Given the description of an element on the screen output the (x, y) to click on. 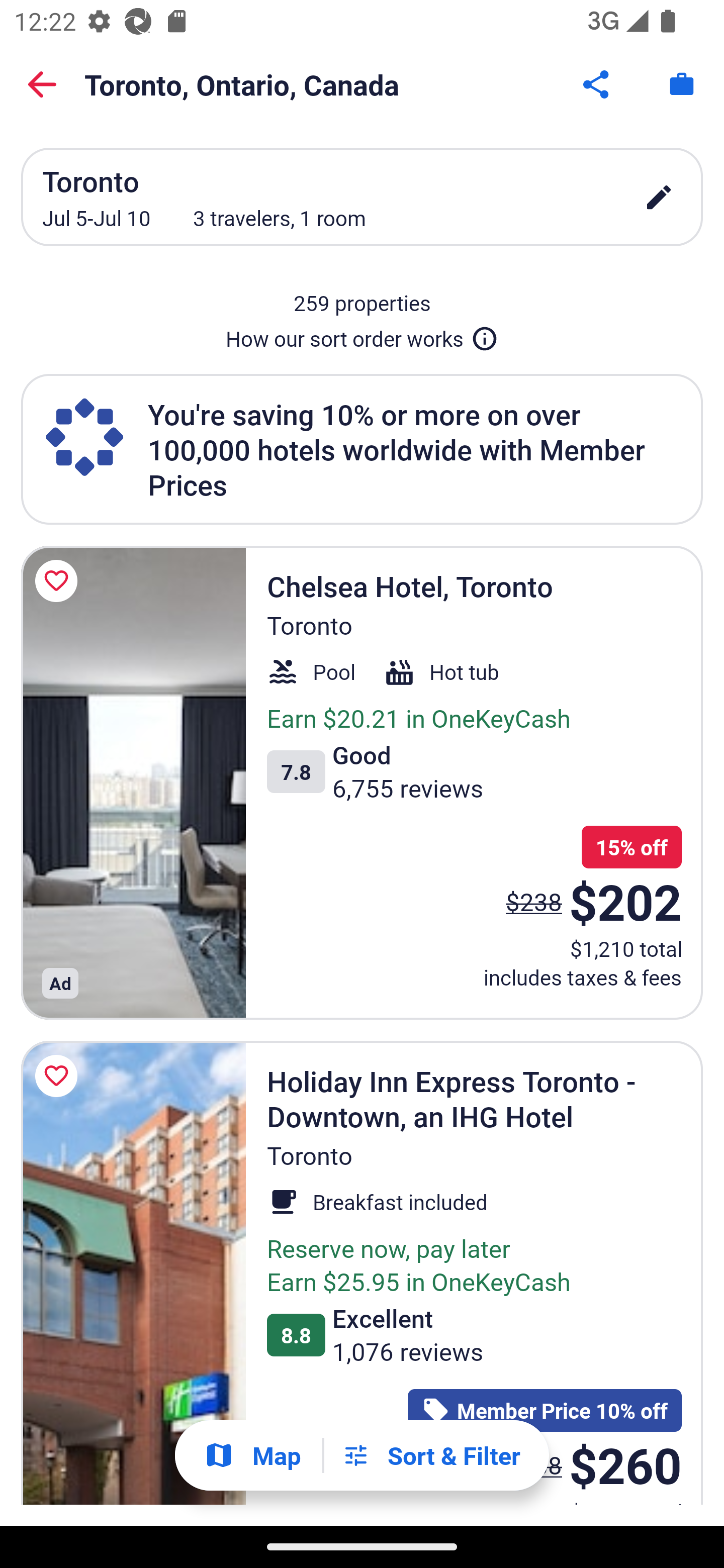
Back (42, 84)
Share Button (597, 84)
Trips. Button (681, 84)
Toronto Jul 5-Jul 10 3 travelers, 1 room edit (361, 196)
How our sort order works (361, 334)
Save Chelsea Hotel, Toronto to a trip (59, 580)
Chelsea Hotel, Toronto (133, 782)
$238 The price was $238 (533, 901)
Filters Sort & Filter Filters Button (430, 1455)
Show map Map Show map Button (252, 1455)
